Given the description of an element on the screen output the (x, y) to click on. 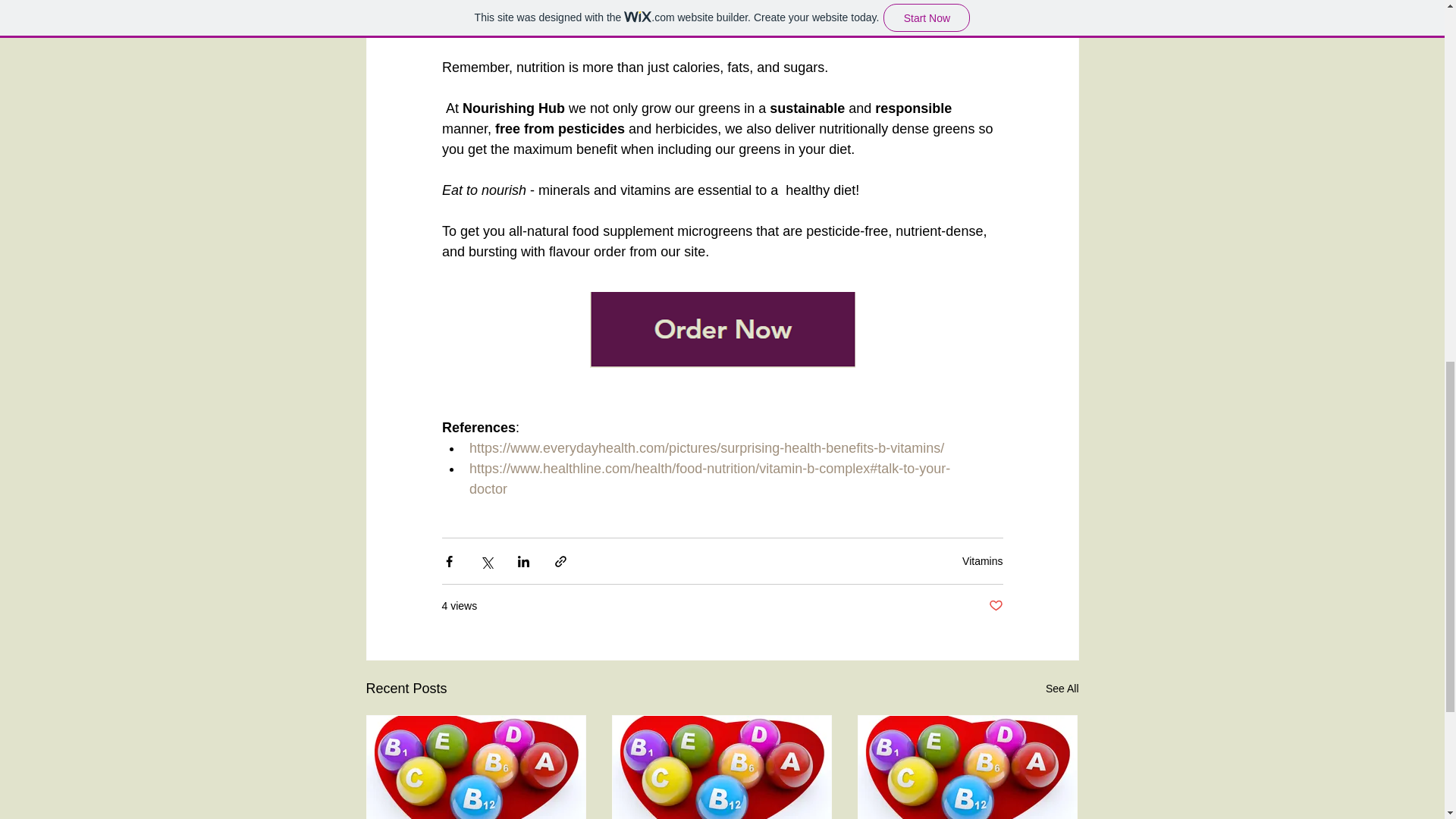
Post not marked as liked (995, 606)
See All (1061, 689)
Vitamins (982, 561)
